Given the description of an element on the screen output the (x, y) to click on. 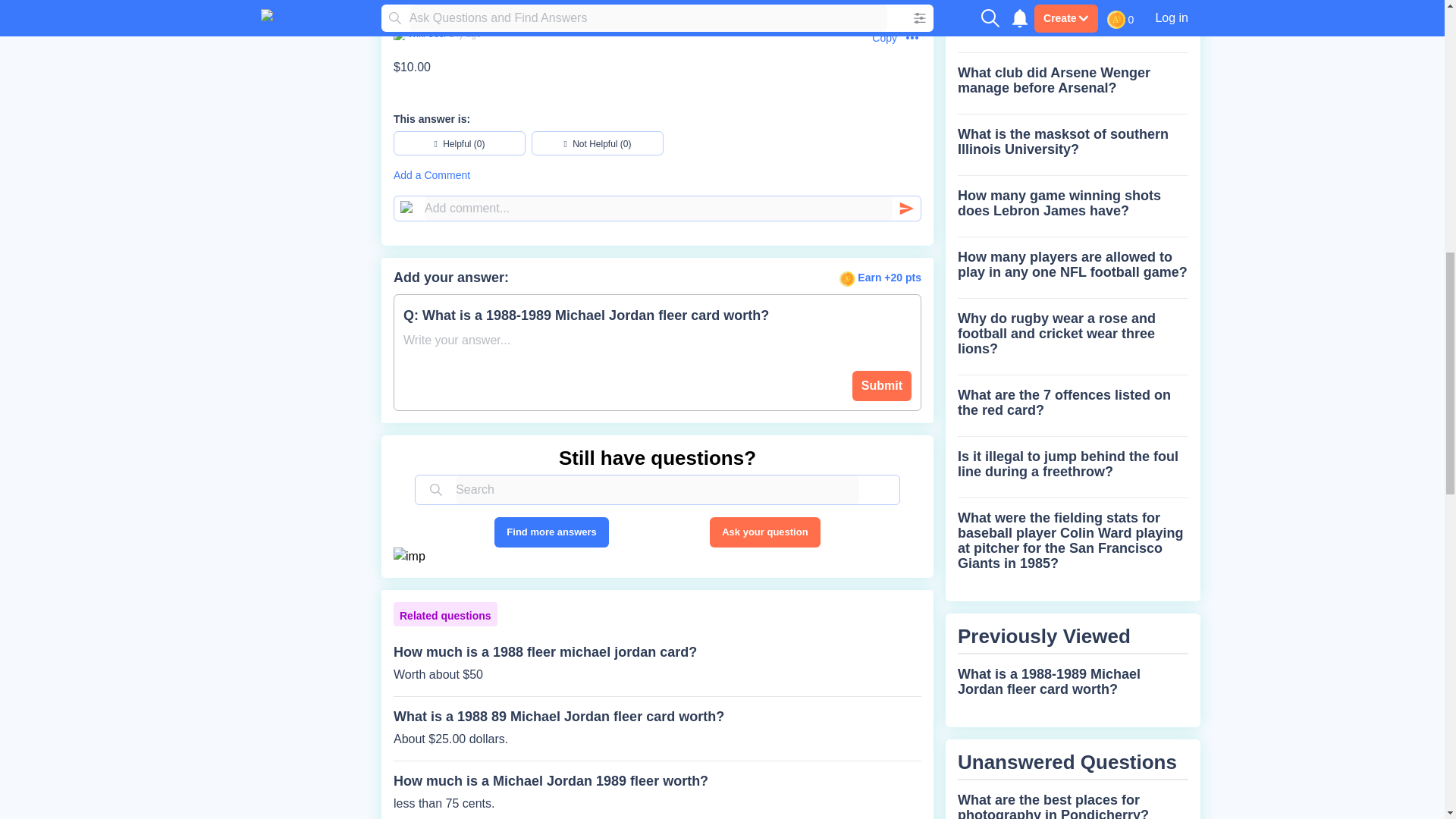
2010-03-24 19:22:36 (464, 33)
